Given the description of an element on the screen output the (x, y) to click on. 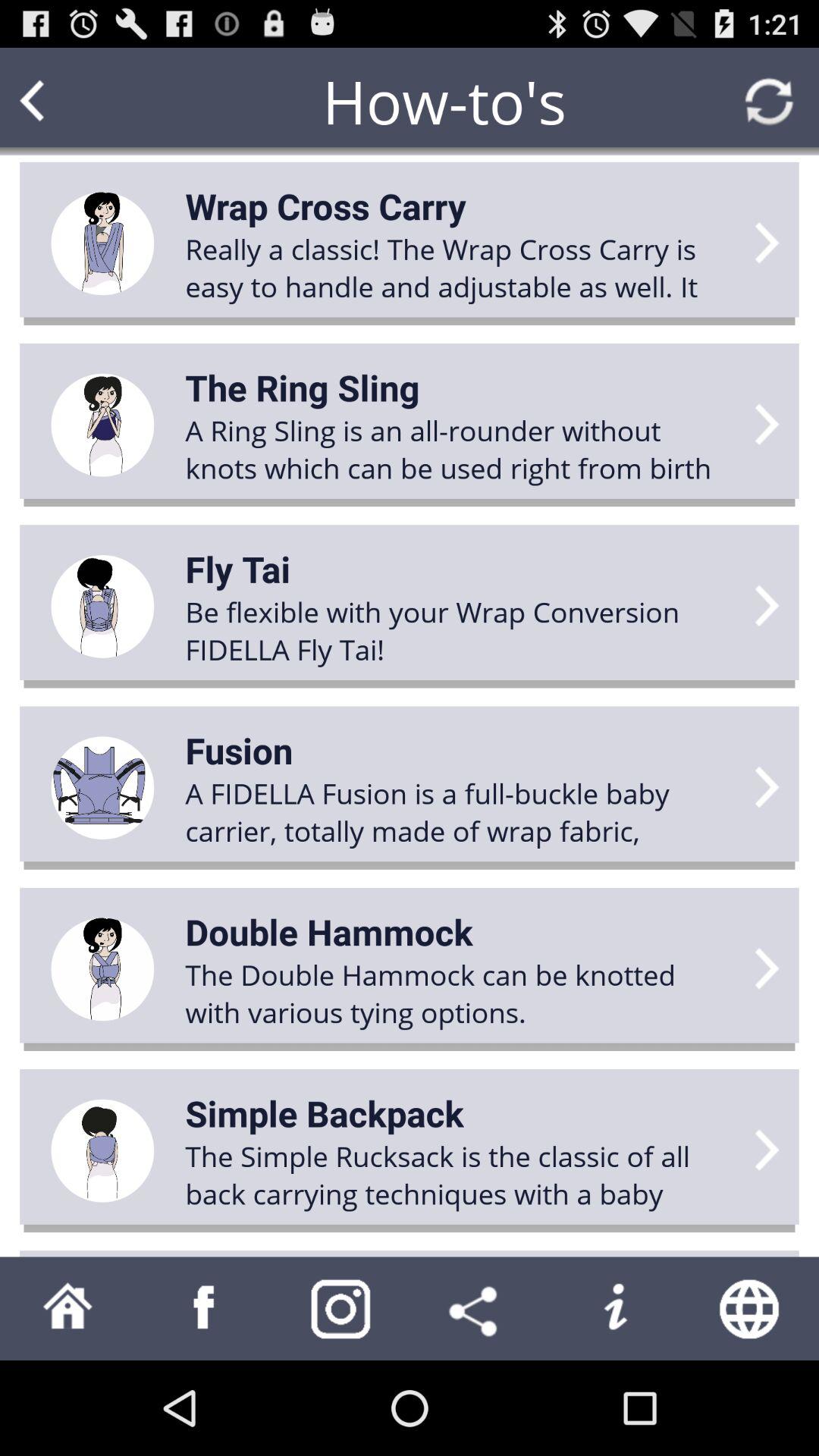
link to facebook (204, 1308)
